Given the description of an element on the screen output the (x, y) to click on. 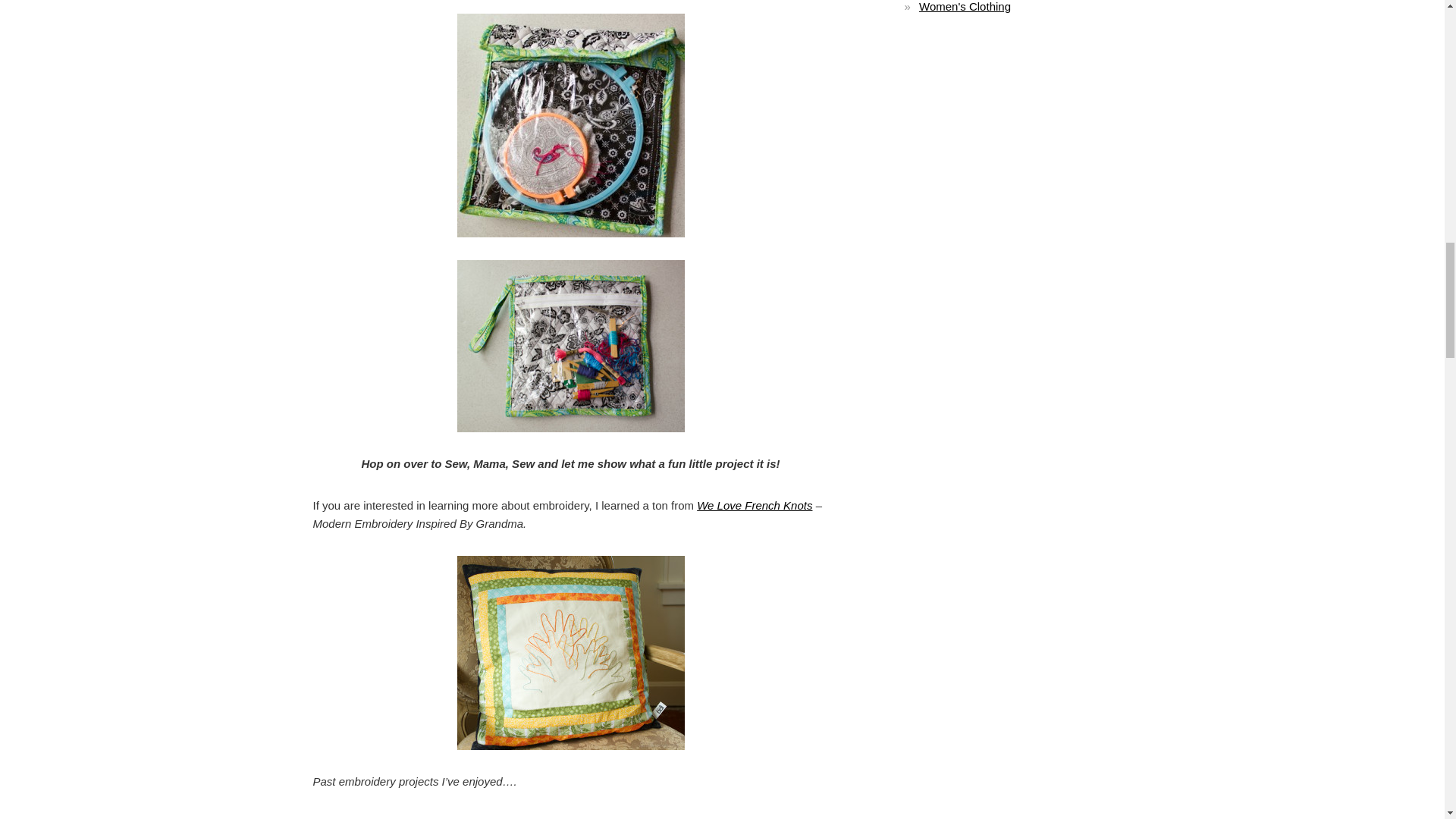
We Love French Knots (754, 504)
Embroidered Handprint Pillow (374, 817)
indoor-snap (570, 125)
indoor-zipper (570, 346)
Grandchildren Pillow (570, 653)
Handprints Pillow I (374, 817)
